Given the description of an element on the screen output the (x, y) to click on. 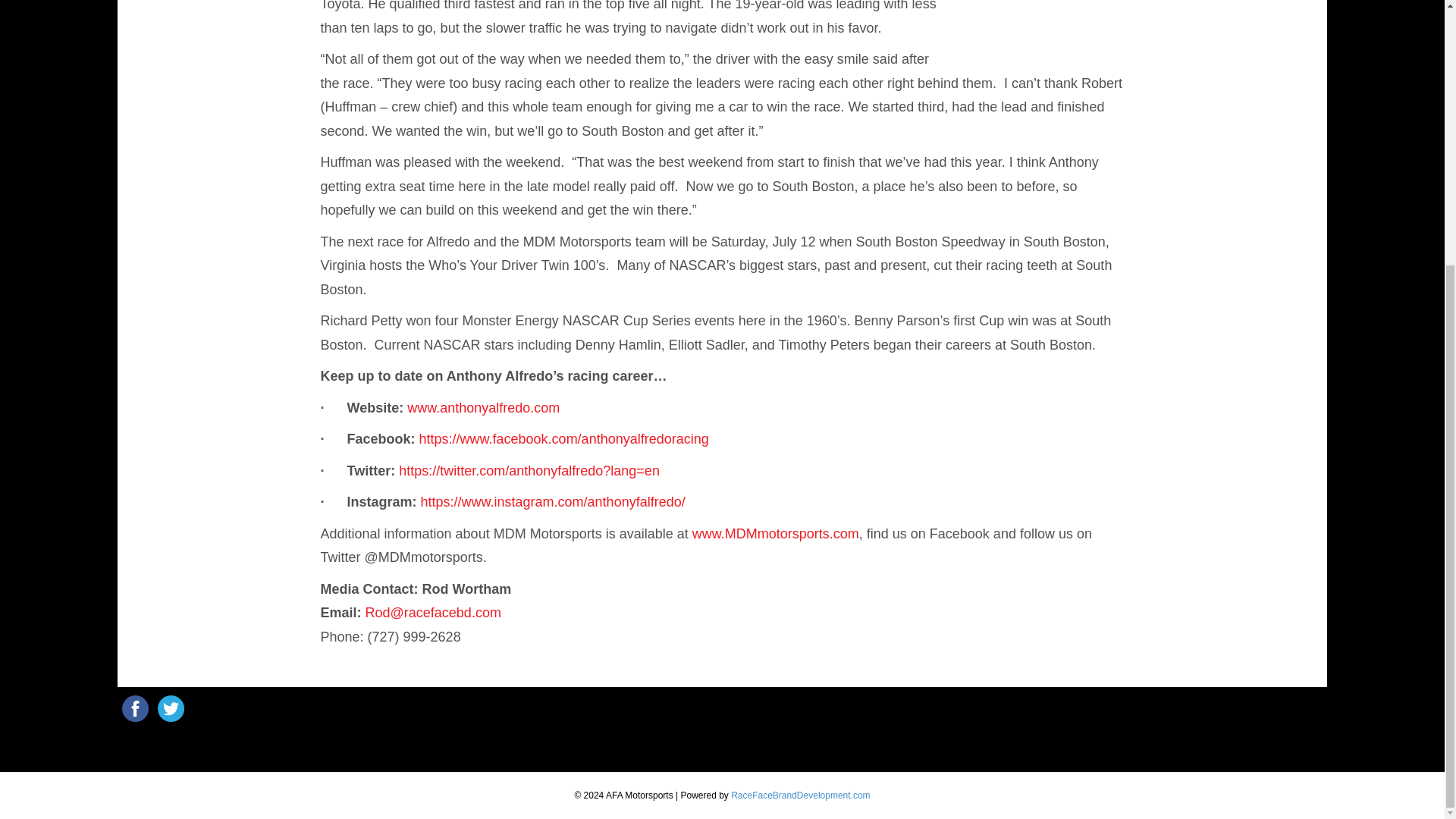
RaceFaceBrandDevelopment.com (799, 795)
facebook (134, 708)
twitter (170, 708)
www.anthonyalfredo.com (483, 407)
www.MDMmotorsports.com (776, 533)
